Given the description of an element on the screen output the (x, y) to click on. 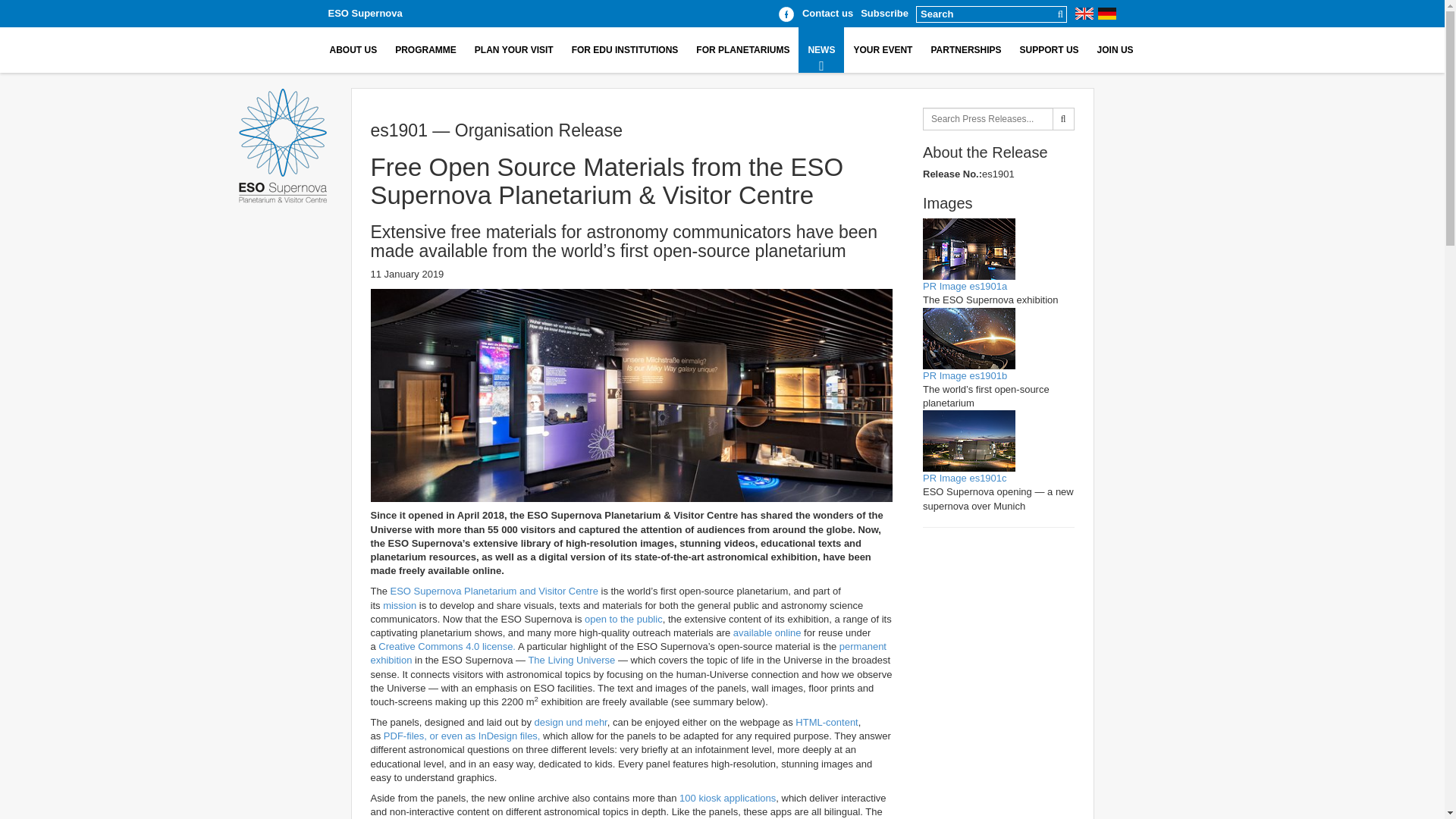
Contact us (827, 12)
FOR EDU INSTITUTIONS (624, 49)
PROGRAMME (425, 49)
ABOUT US (352, 49)
PLAN YOUR VISIT (513, 49)
ESO Supernova (364, 12)
The ESO Supernova exhibition (630, 395)
Subscribe (884, 12)
